Given the description of an element on the screen output the (x, y) to click on. 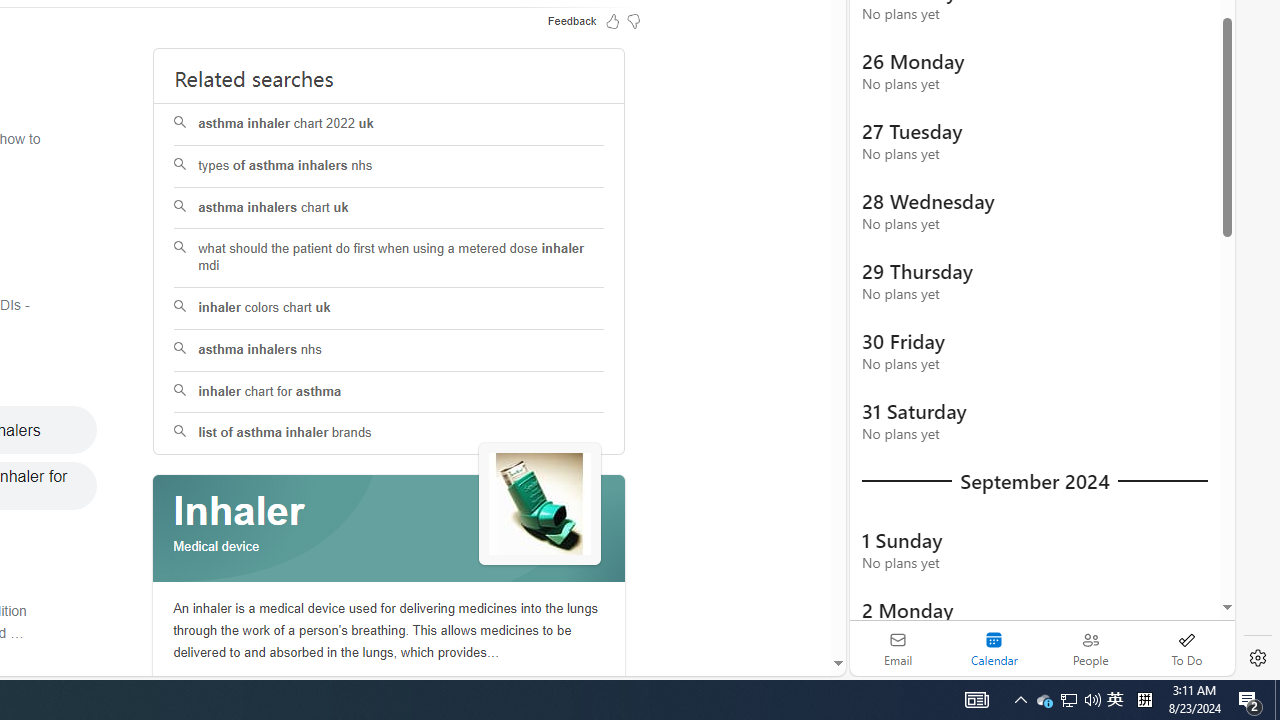
See more images of Inhaler (539, 503)
list of asthma inhaler brands (388, 434)
types of asthma inhalers nhs (389, 165)
inhaler chart for asthma (389, 391)
Feedback Like (612, 20)
asthma inhaler chart 2022 uk (388, 123)
asthma inhalers chart uk (389, 208)
types of asthma inhalers nhs (388, 165)
Search more (792, 604)
AutomationID: mfa_root (762, 603)
